Given the description of an element on the screen output the (x, y) to click on. 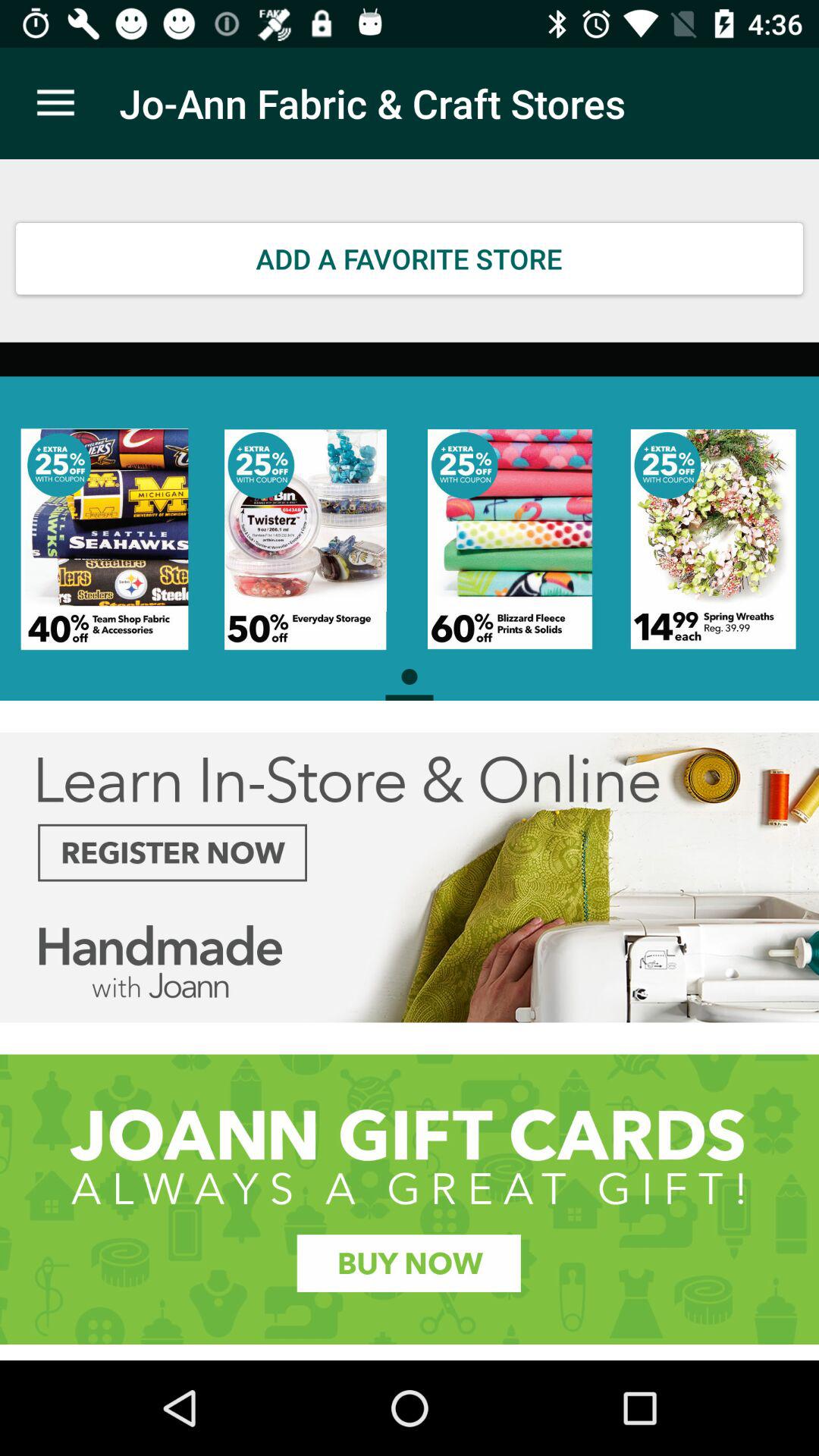
open the icon next to jo ann fabric (55, 103)
